Given the description of an element on the screen output the (x, y) to click on. 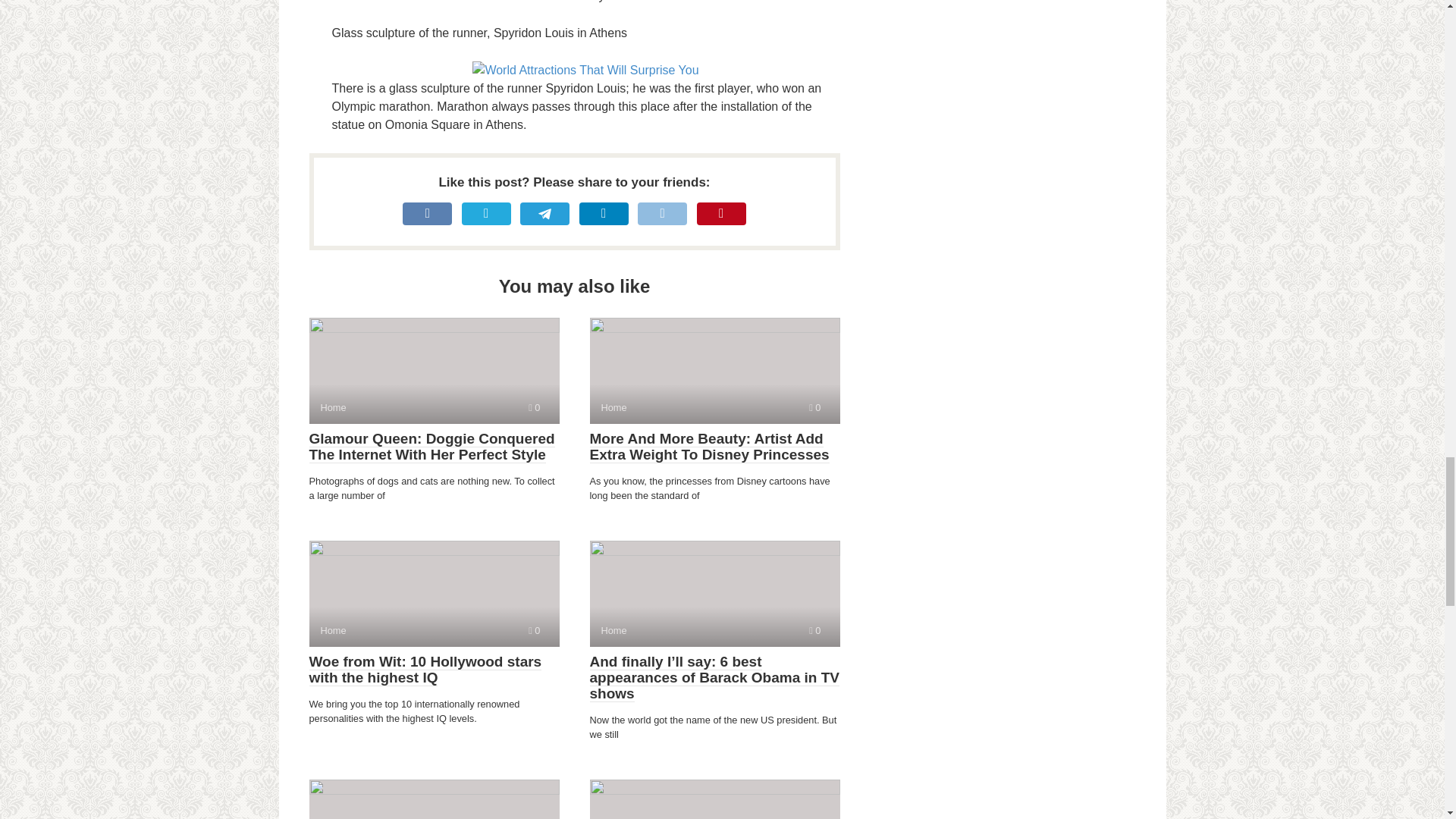
Comments (534, 630)
World Attractions That Will Surprise You (433, 593)
Comments (584, 70)
Comments (714, 799)
Woe from Wit: 10 Hollywood stars with the highest IQ (815, 630)
